Given the description of an element on the screen output the (x, y) to click on. 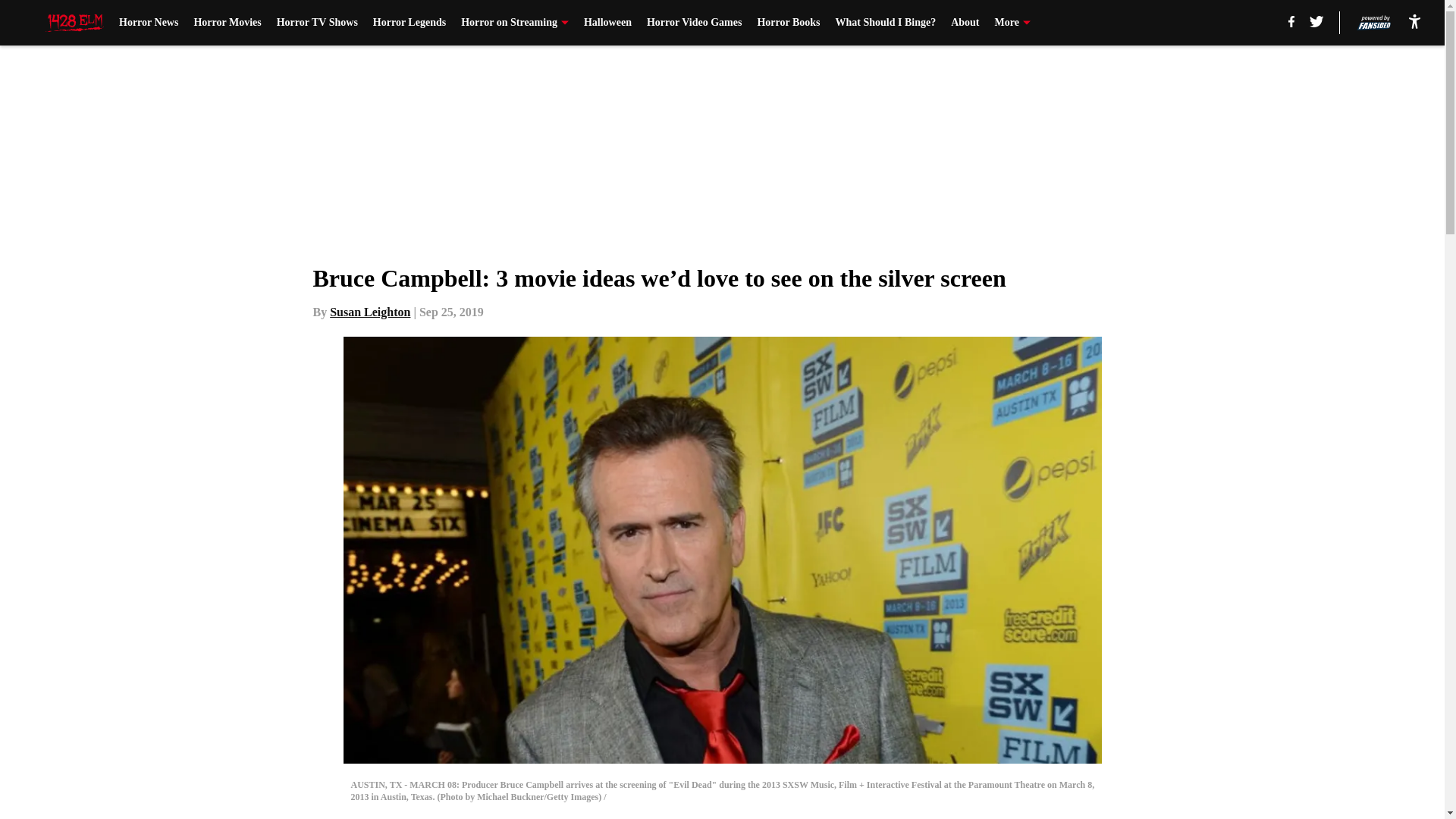
Susan Leighton (370, 311)
Halloween (607, 22)
Horror Legends (408, 22)
Horror on Streaming (515, 22)
About (964, 22)
More (1012, 22)
Horror Books (788, 22)
Horror TV Shows (317, 22)
What Should I Binge? (885, 22)
Horror Video Games (693, 22)
